Given the description of an element on the screen output the (x, y) to click on. 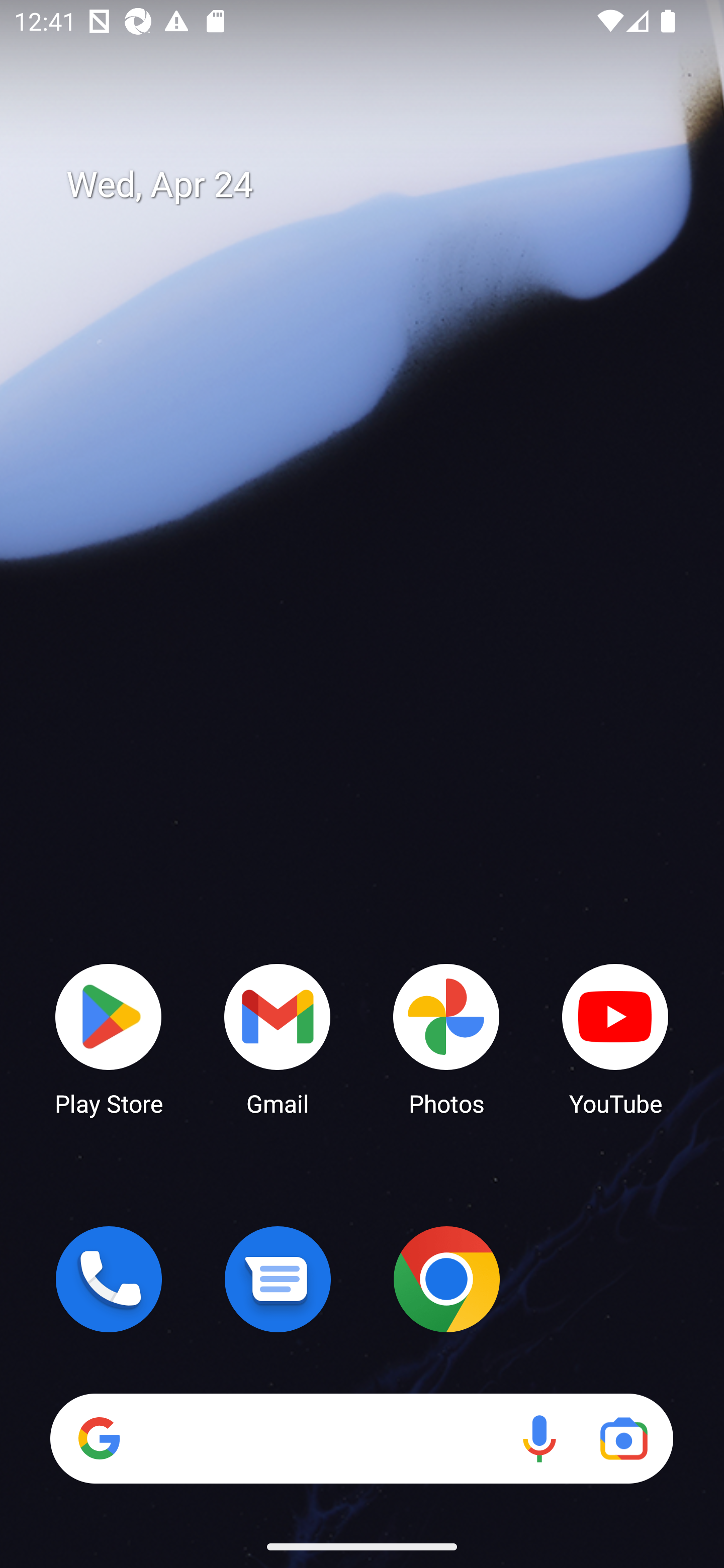
Wed, Apr 24 (375, 184)
Play Store (108, 1038)
Gmail (277, 1038)
Photos (445, 1038)
YouTube (615, 1038)
Phone (108, 1279)
Messages (277, 1279)
Chrome (446, 1279)
Search Voice search Google Lens (361, 1438)
Voice search (539, 1438)
Google Lens (623, 1438)
